Given the description of an element on the screen output the (x, y) to click on. 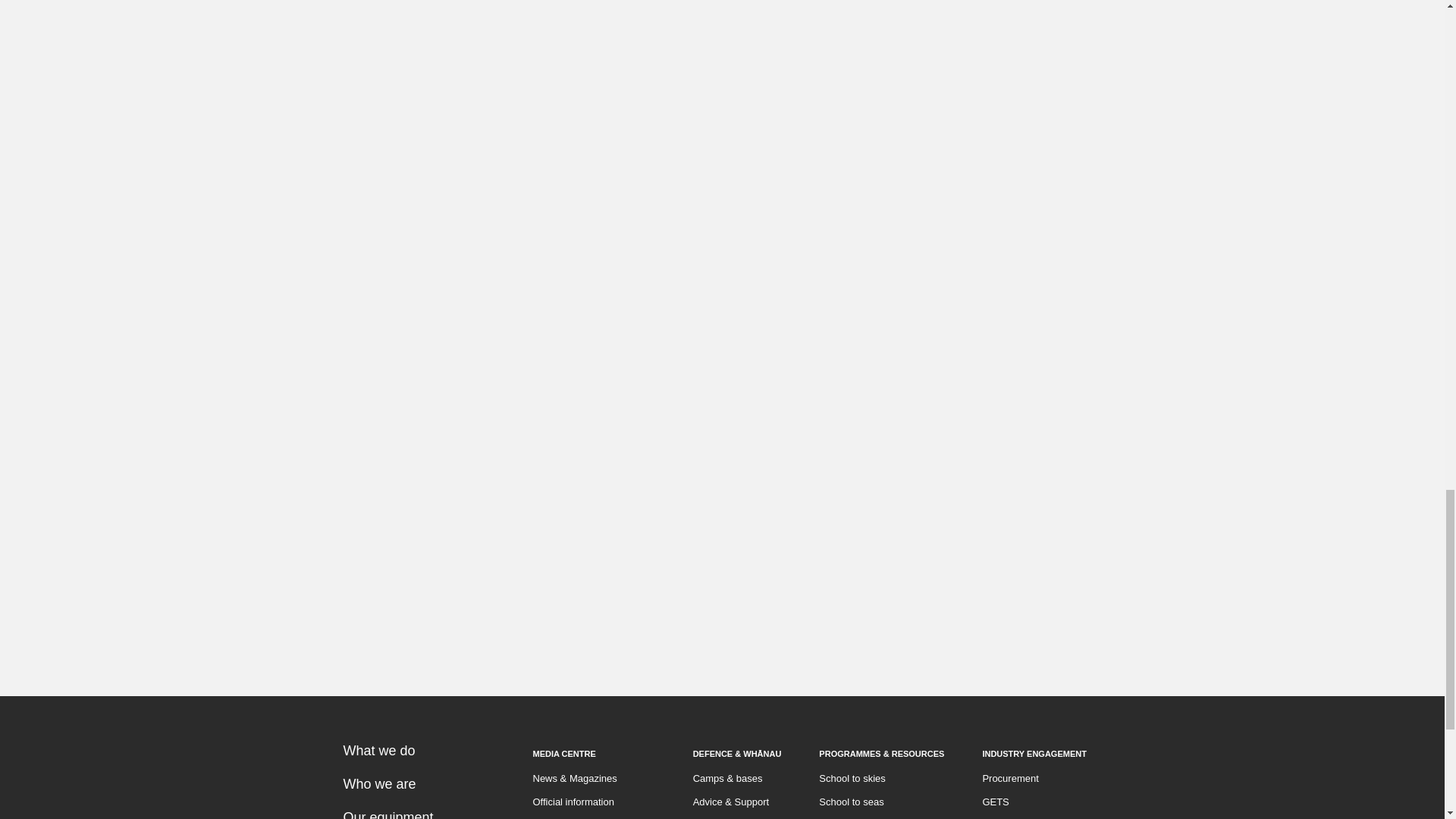
Medals (709, 817)
Our equipment (387, 811)
GETS (995, 801)
Who we are (378, 782)
SmartProcure (1011, 817)
Procurement (1009, 777)
School to seas (850, 801)
School to skies (851, 777)
Military Museums (856, 817)
Official information (572, 801)
What we do (378, 749)
